Given the description of an element on the screen output the (x, y) to click on. 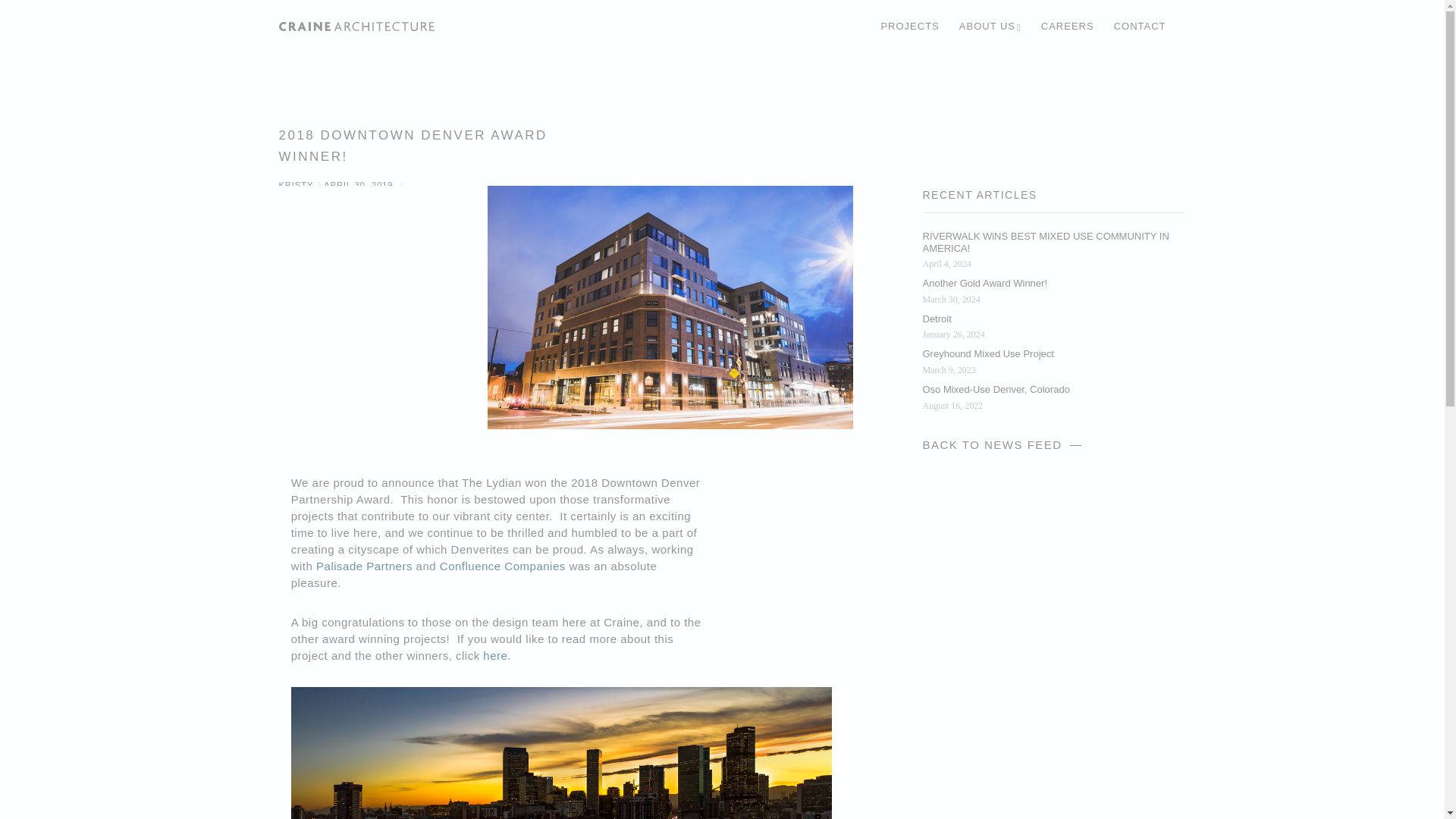
CAREERS (1058, 26)
Confluence Companies (502, 565)
here. (497, 655)
Detroit (1053, 320)
Another Gold Award Winner! (1053, 284)
CONTACT (1130, 26)
RIVERWALK WiNS BEST MIXED USE COMMUNITY IN AMERICA! (1053, 243)
Greyhound Mixed Use Project (1053, 354)
PROJECTS (899, 26)
ABOUT US (980, 26)
BACK TO NEWS FEED (1004, 444)
Oso Mixed-Use Denver, Colorado (1053, 390)
Palisade Partners (363, 565)
